Given the description of an element on the screen output the (x, y) to click on. 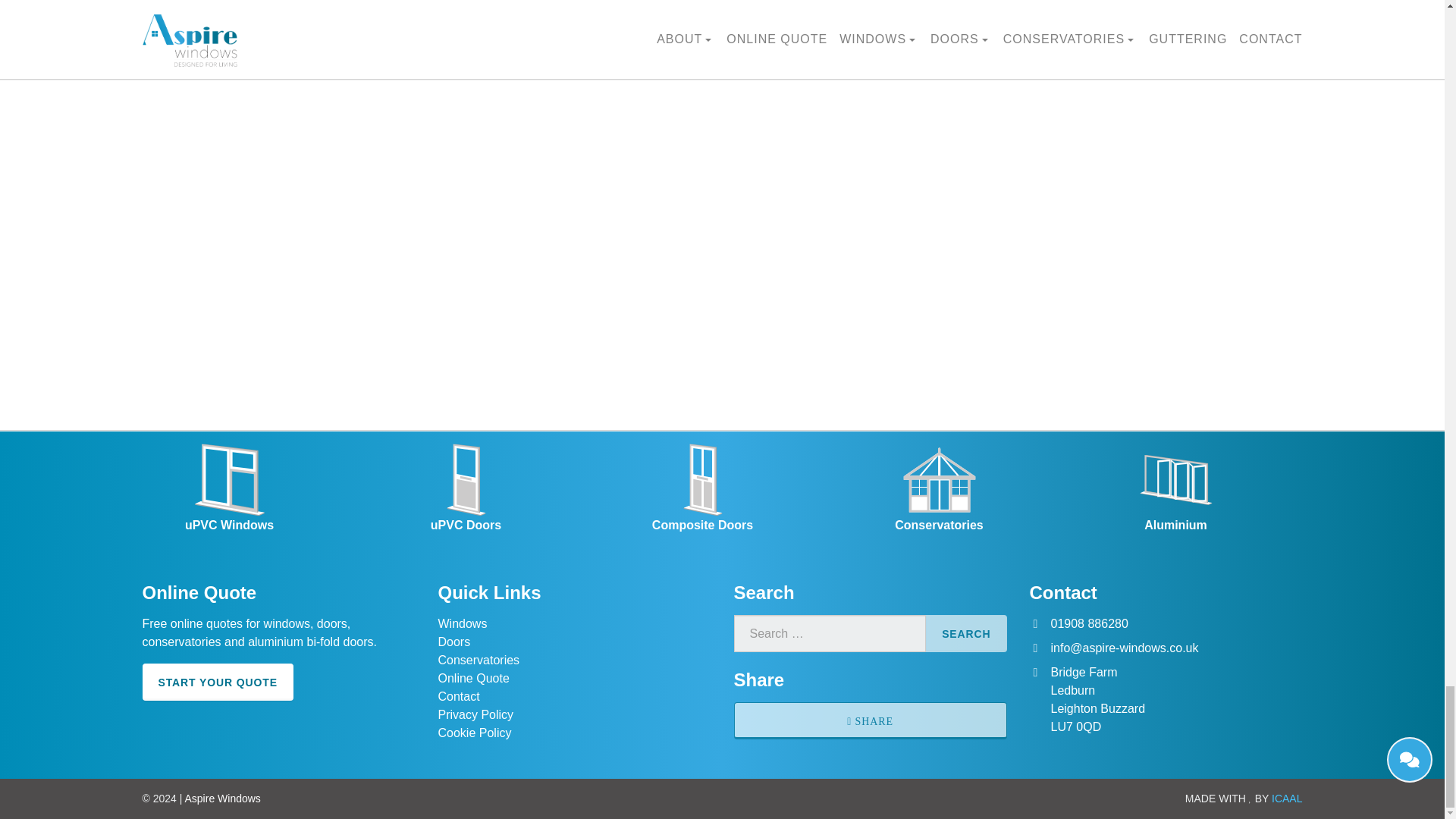
Search (966, 633)
Search (966, 633)
